Given the description of an element on the screen output the (x, y) to click on. 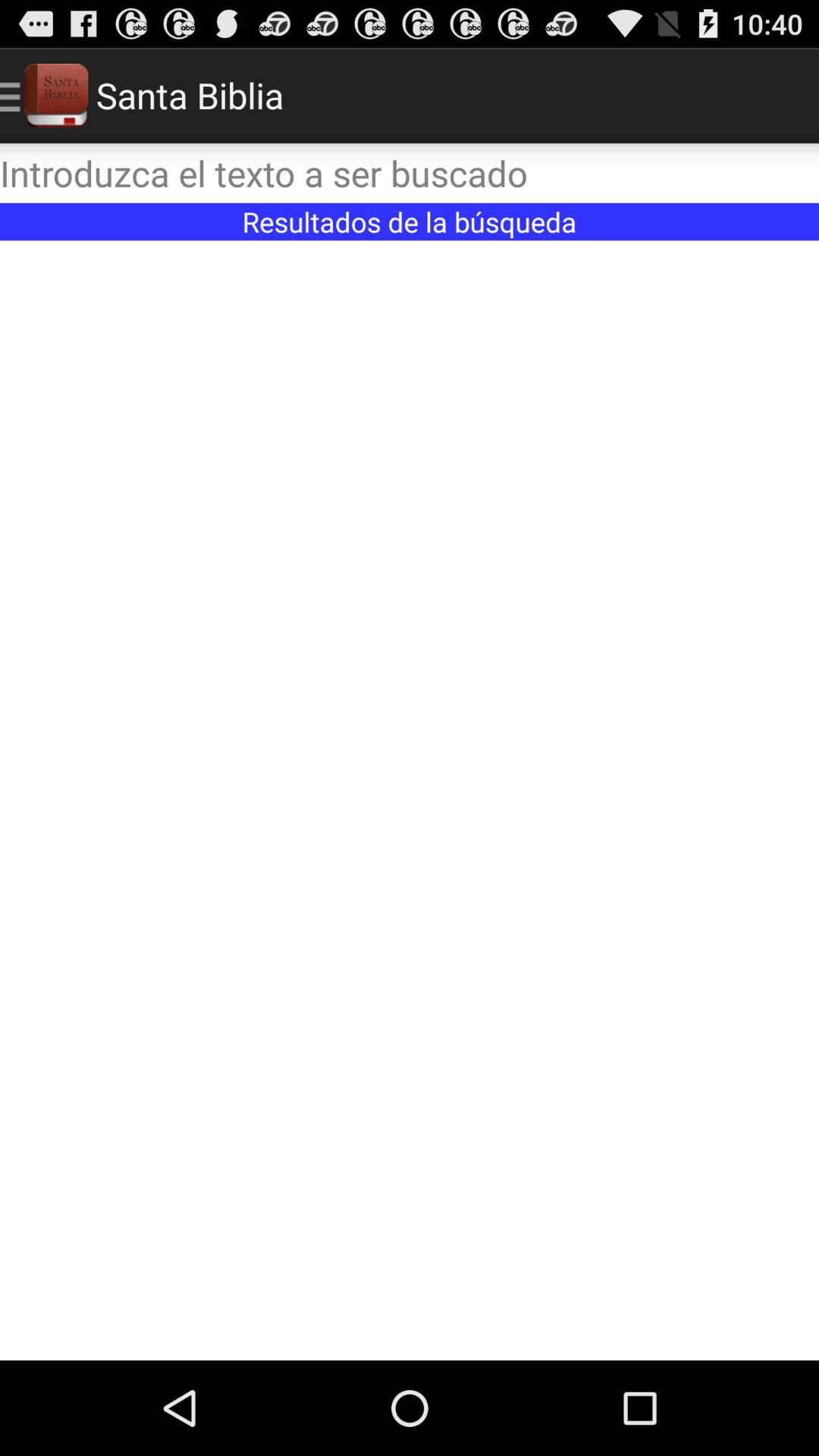
research results (409, 800)
